Given the description of an element on the screen output the (x, y) to click on. 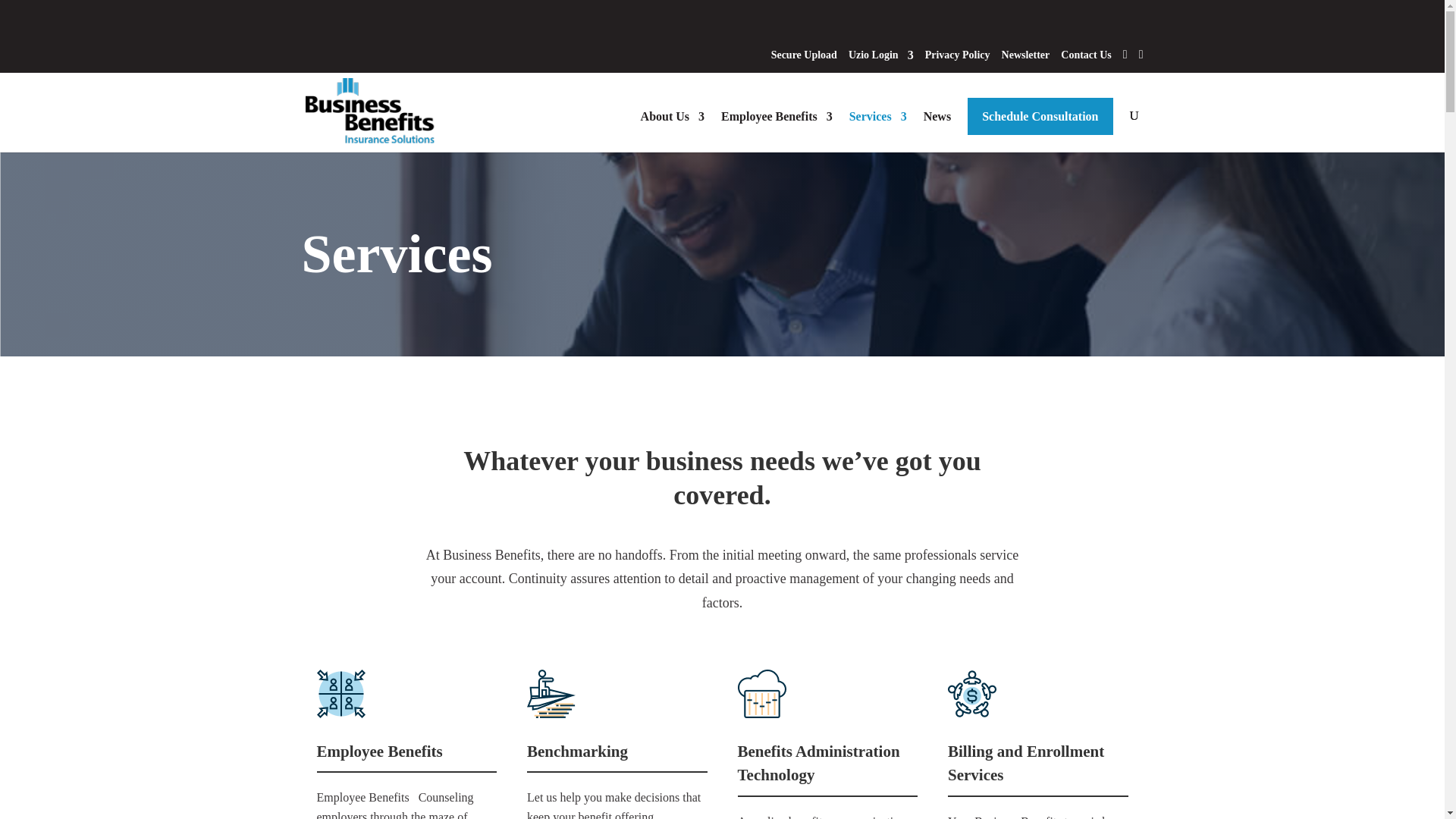
Services (877, 129)
Newsletter (1025, 58)
Secure Upload (804, 58)
Employee Benefits (776, 129)
Uzio Login (881, 58)
Privacy Policy (957, 58)
About Us (672, 129)
Contact Us (1086, 58)
